Given the description of an element on the screen output the (x, y) to click on. 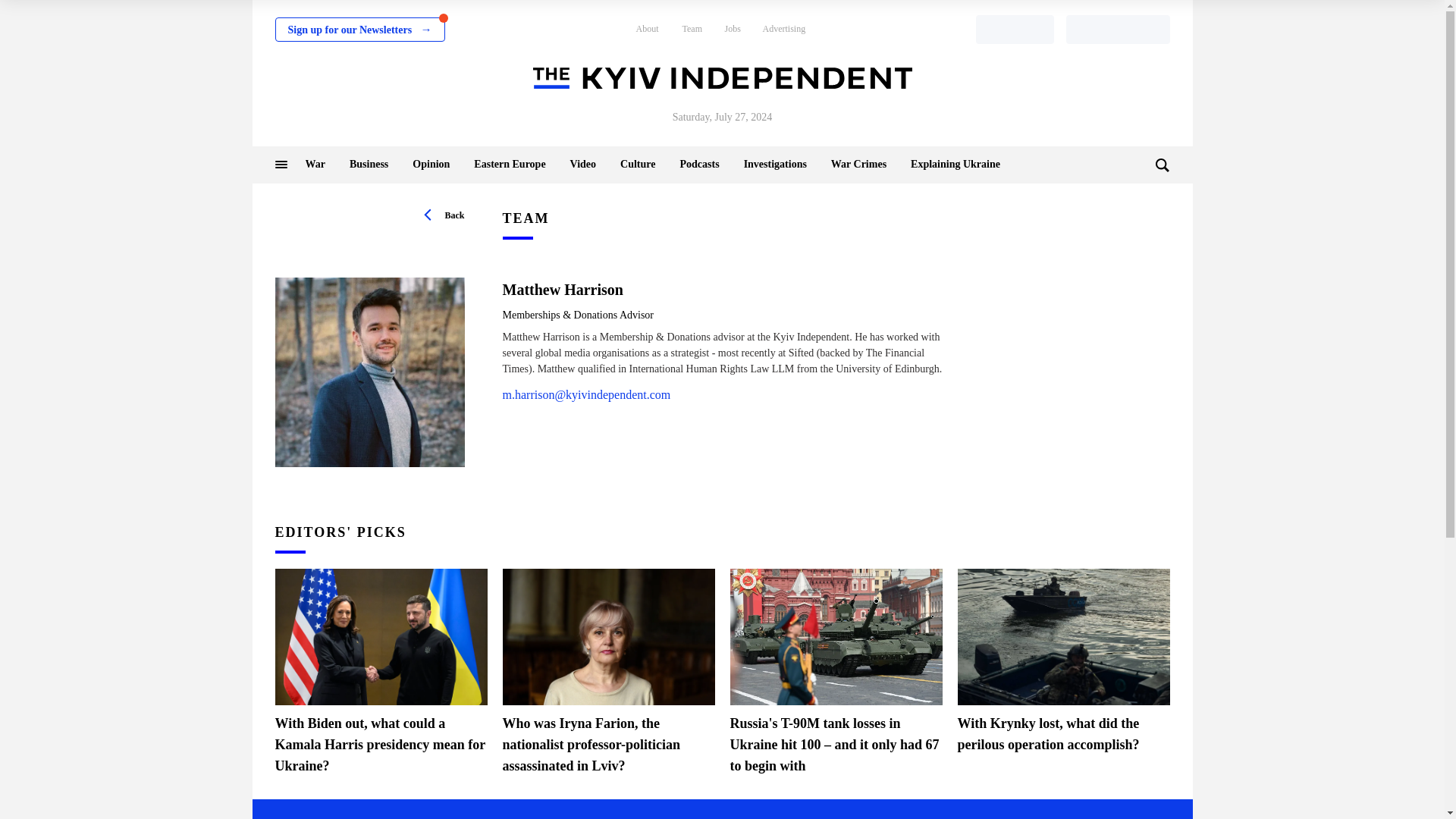
War (314, 163)
War Crimes (858, 163)
Advertising (784, 28)
Eastern Europe (509, 163)
Jobs (733, 28)
Podcasts (699, 163)
Opinion (430, 163)
Investigations (775, 163)
Team (691, 28)
Video (582, 163)
Explaining Ukraine (955, 163)
About (646, 28)
Culture (637, 163)
Business (368, 163)
